Given the description of an element on the screen output the (x, y) to click on. 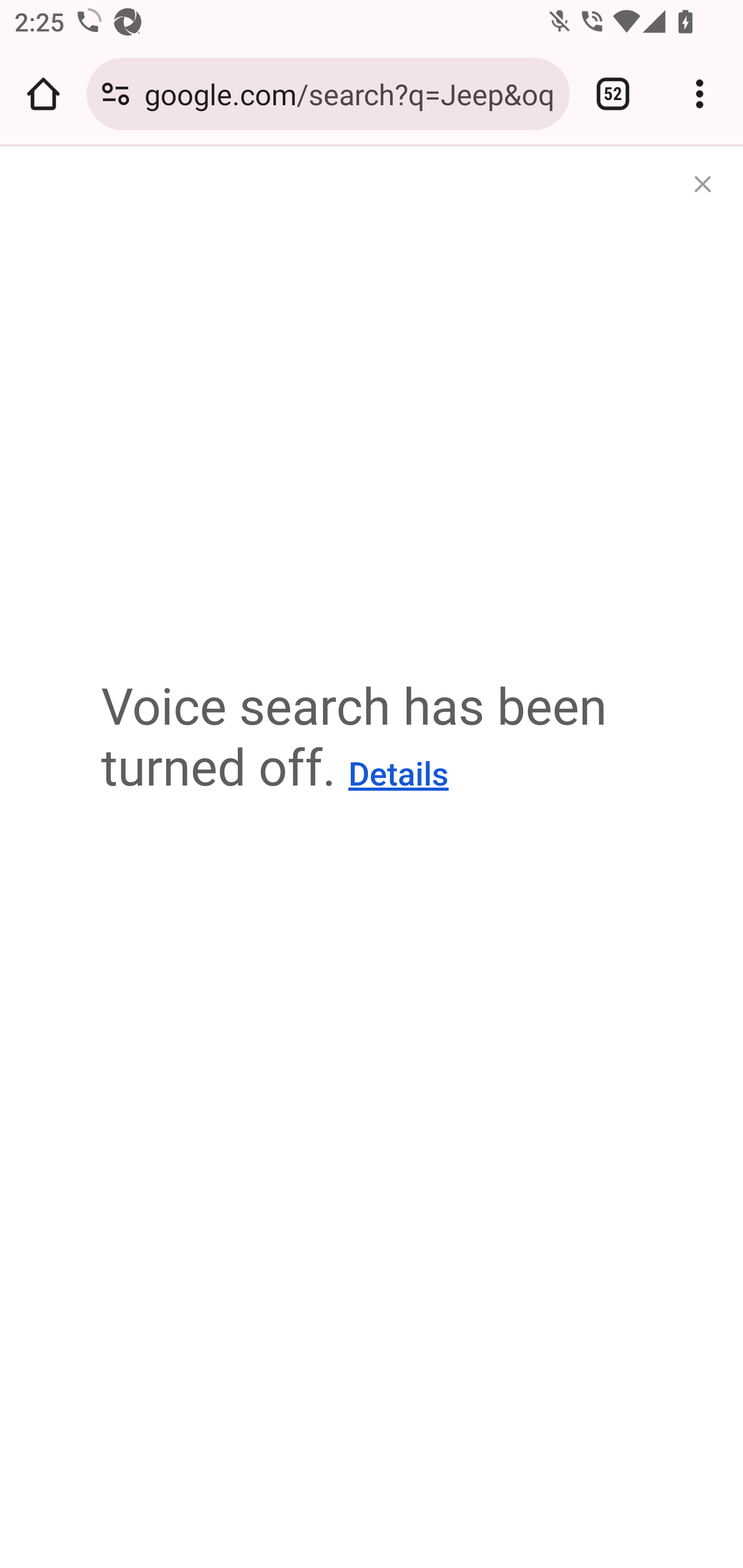
Open the home page (43, 93)
Connection is secure (115, 93)
Switch or close tabs (612, 93)
Customize and control Google Chrome (699, 93)
close (700, 187)
Details (397, 774)
